Given the description of an element on the screen output the (x, y) to click on. 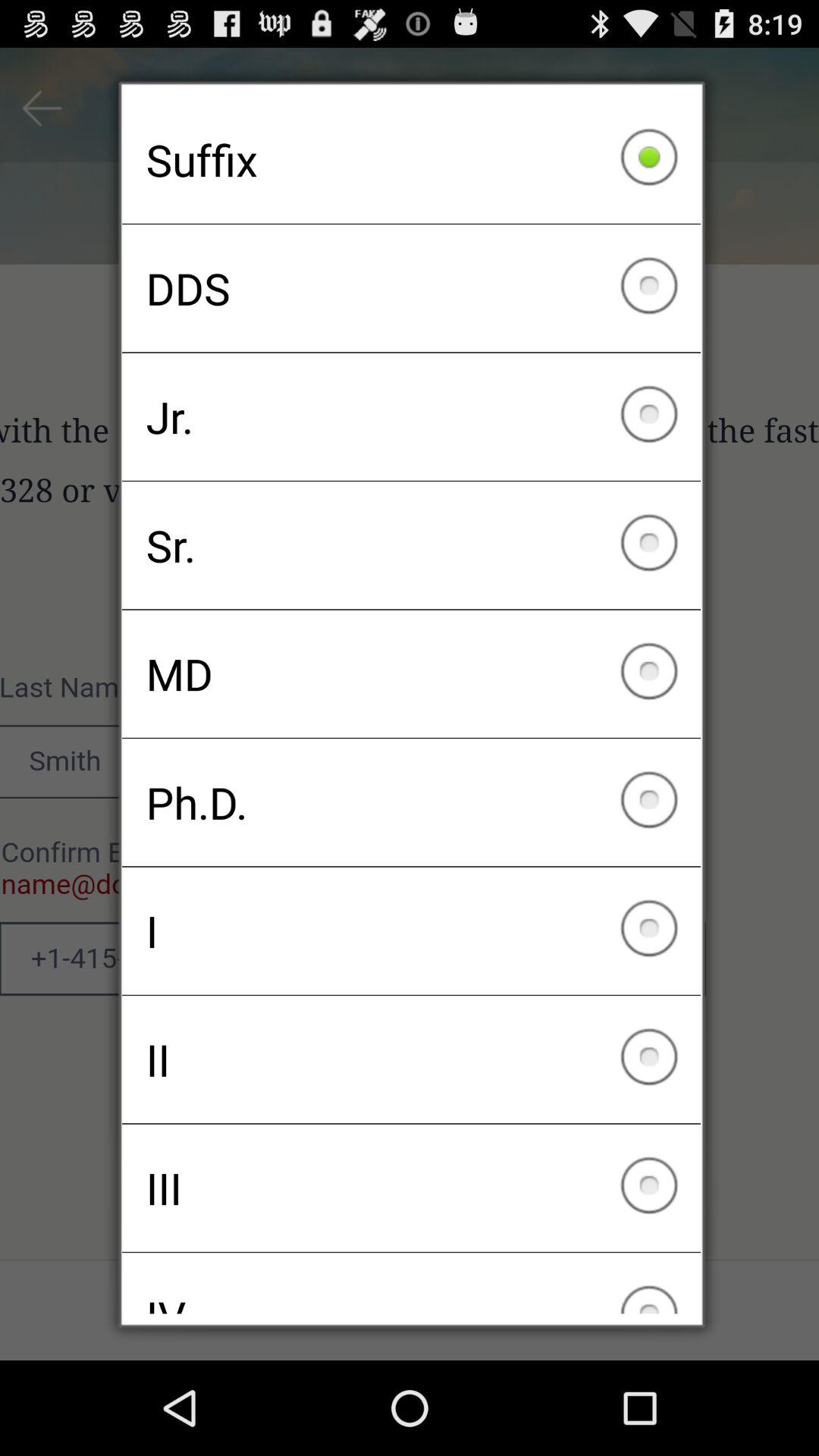
choose the checkbox below iii icon (411, 1282)
